Given the description of an element on the screen output the (x, y) to click on. 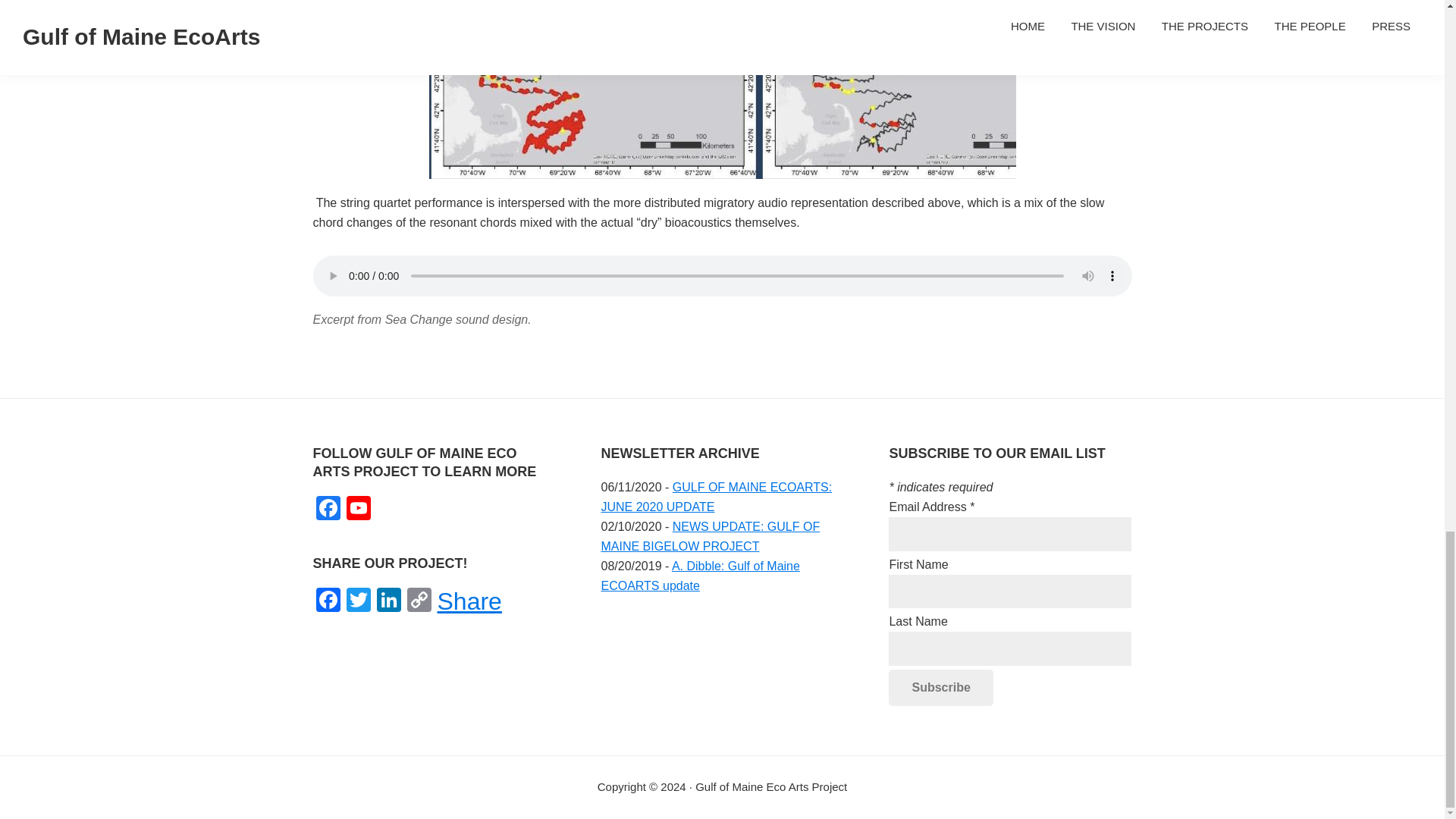
A. Dibble: Gulf of Maine ECOARTS update (699, 575)
Facebook (327, 601)
Twitter (357, 601)
Facebook (327, 510)
Subscribe (940, 687)
GULF OF MAINE ECOARTS: JUNE 2020 UPDATE (715, 496)
YouTube (357, 510)
Copy Link (418, 601)
NEWS UPDATE: GULF OF MAINE BIGELOW PROJECT (709, 536)
LinkedIn (387, 601)
Facebook (327, 510)
